Given the description of an element on the screen output the (x, y) to click on. 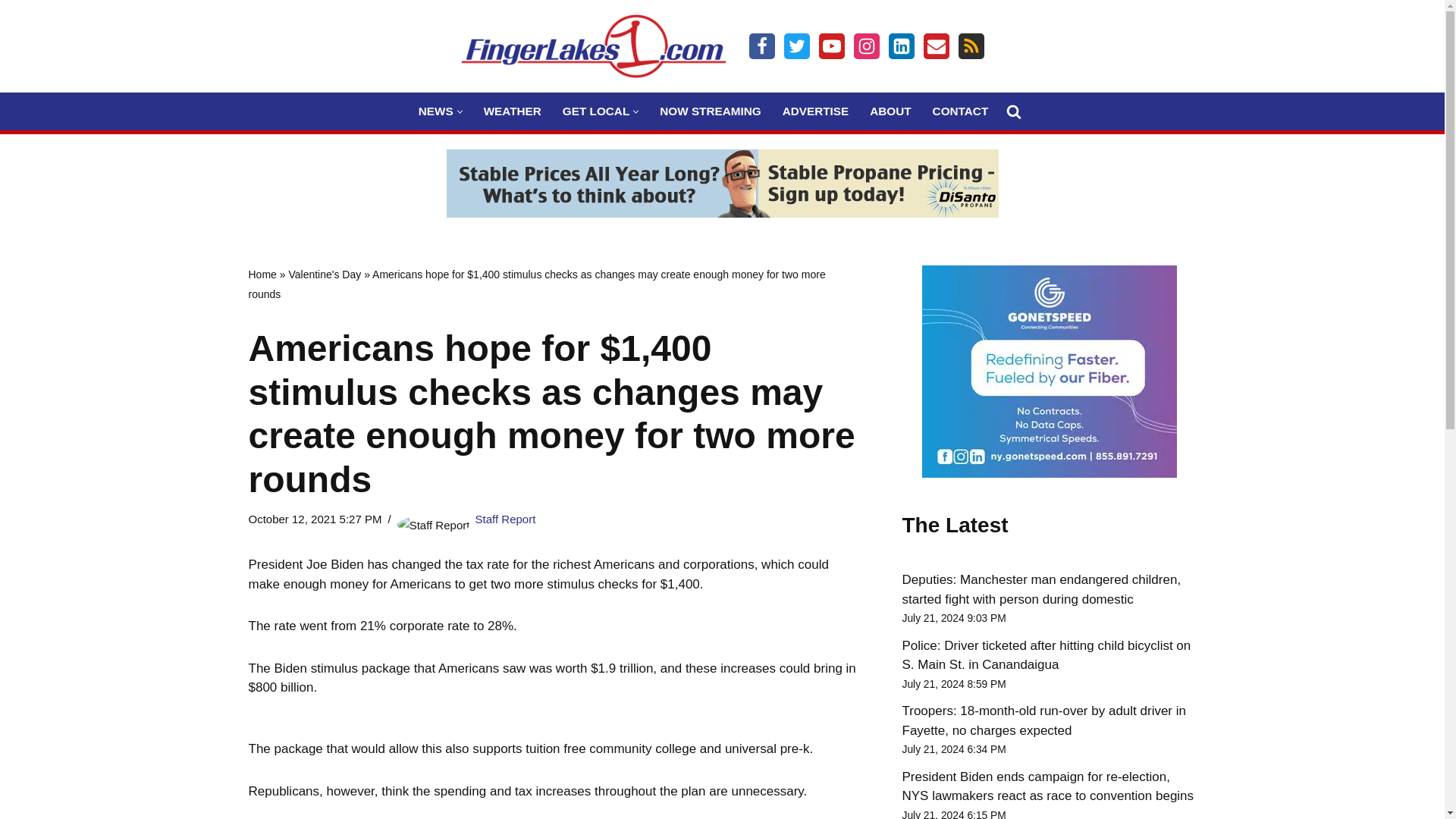
GET LOCAL (595, 111)
Facebook (761, 45)
Posts by Staff Report (505, 518)
Skip to content (11, 31)
Email Us (936, 45)
LinkIn (901, 45)
Youtube (831, 45)
ADVERTISE (815, 111)
ABOUT (890, 111)
WEATHER (512, 111)
Twitter (796, 45)
Feed (971, 45)
NOW STREAMING (709, 111)
CONTACT (960, 111)
Instagram (866, 45)
